Given the description of an element on the screen output the (x, y) to click on. 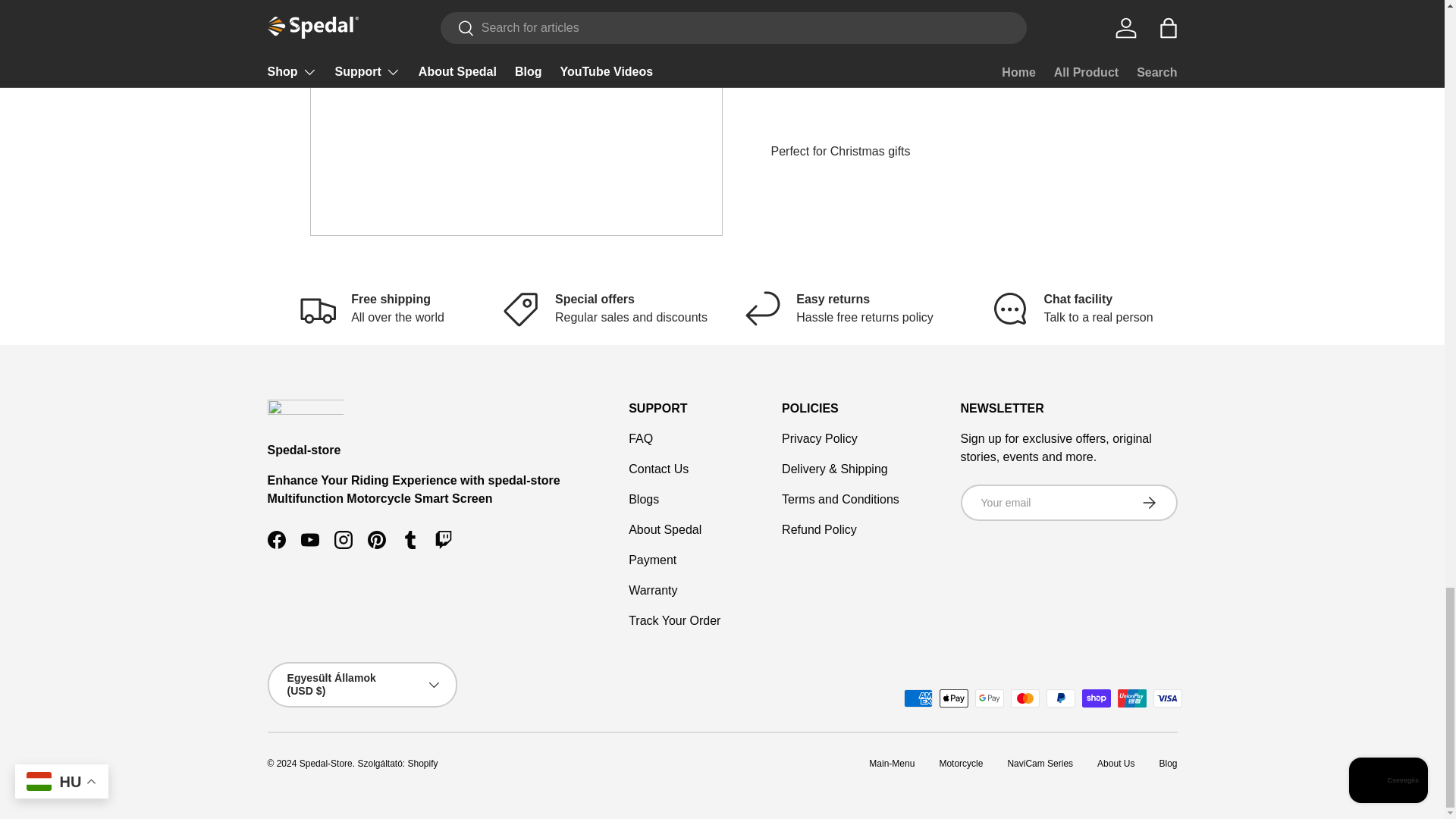
Spedal-Store on Pinterest (376, 539)
Spedal-Store on Instagram (342, 539)
Spedal-Store on Twitch (443, 539)
Spedal-Store on Tumblr (409, 539)
Spedal-Store on YouTube (309, 539)
Spedal-Store on Facebook (275, 539)
